Given the description of an element on the screen output the (x, y) to click on. 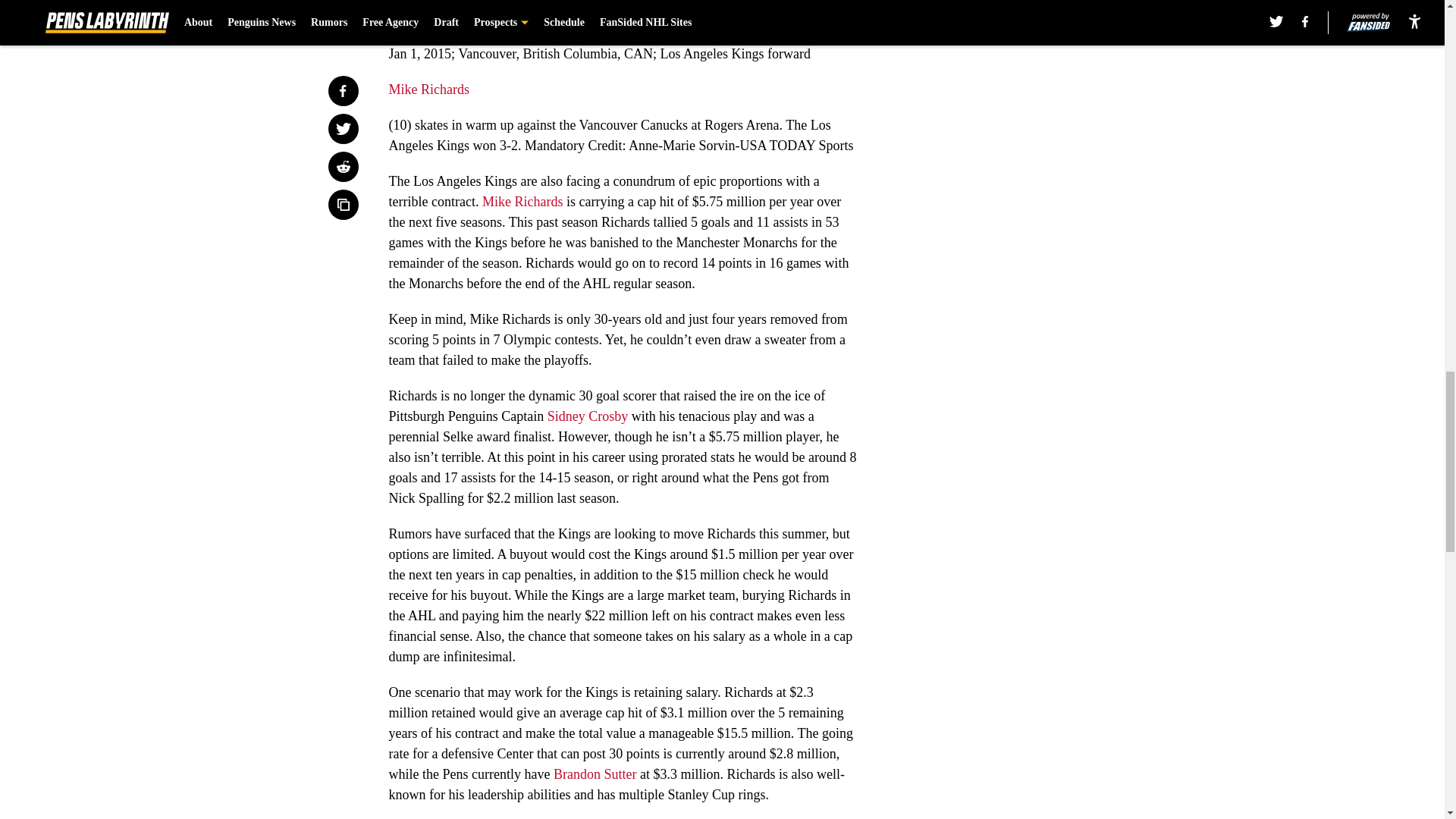
Nathan Horton (644, 2)
Sidney Crosby (587, 416)
Mike Richards (428, 89)
Brandon Sutter (595, 774)
Mike Richards (521, 201)
David Clarkson (537, 2)
